Given the description of an element on the screen output the (x, y) to click on. 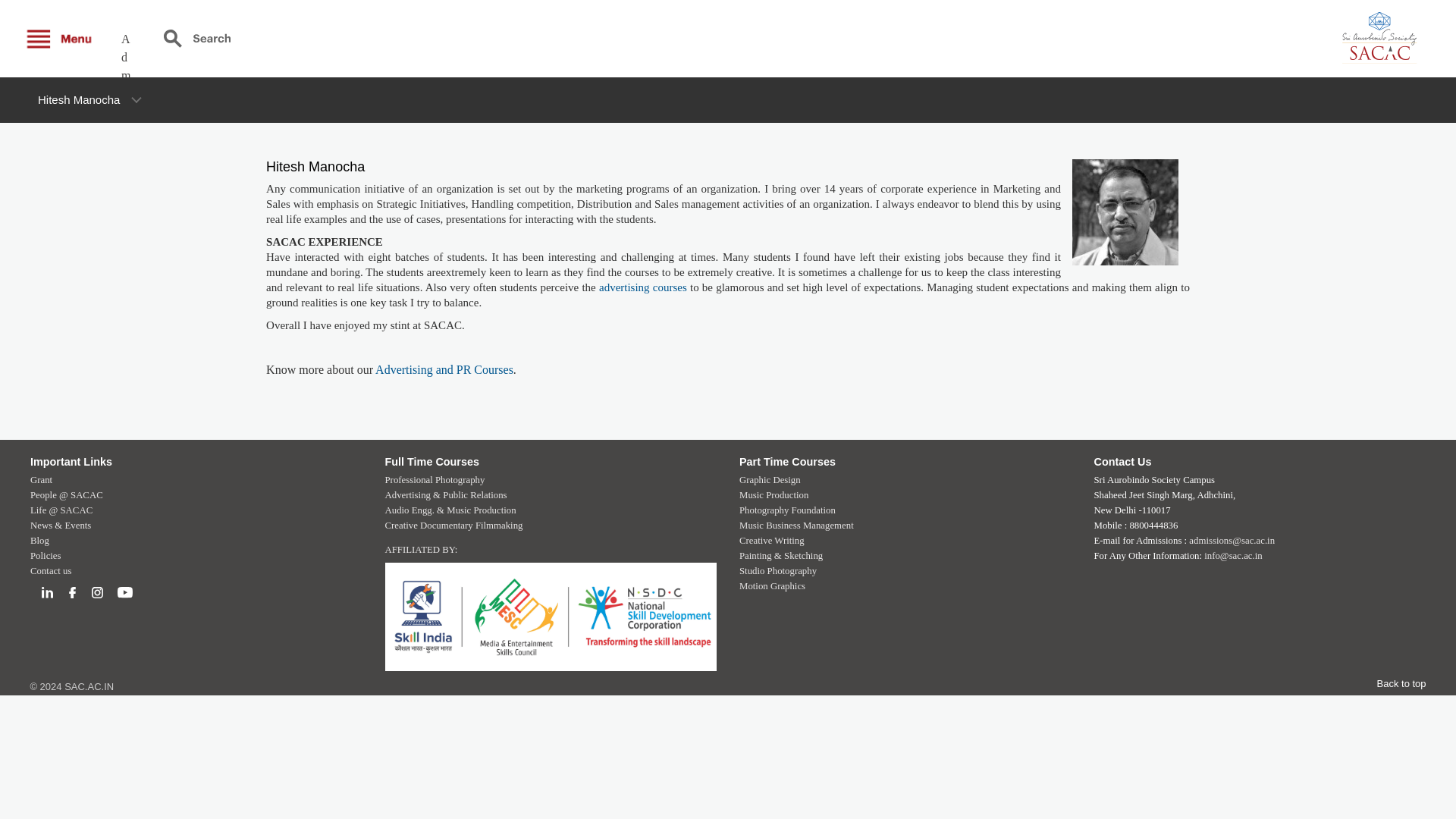
Contact us (50, 570)
Instagram (97, 592)
Main menu (60, 38)
Music Production (773, 494)
Professional Photography (434, 480)
Policies (45, 555)
SACAC - Sri Aurobindo Society Campus (1338, 38)
Photography Foundation (787, 510)
Creative Documentary Filmmaking (453, 525)
Blog (39, 540)
